Given the description of an element on the screen output the (x, y) to click on. 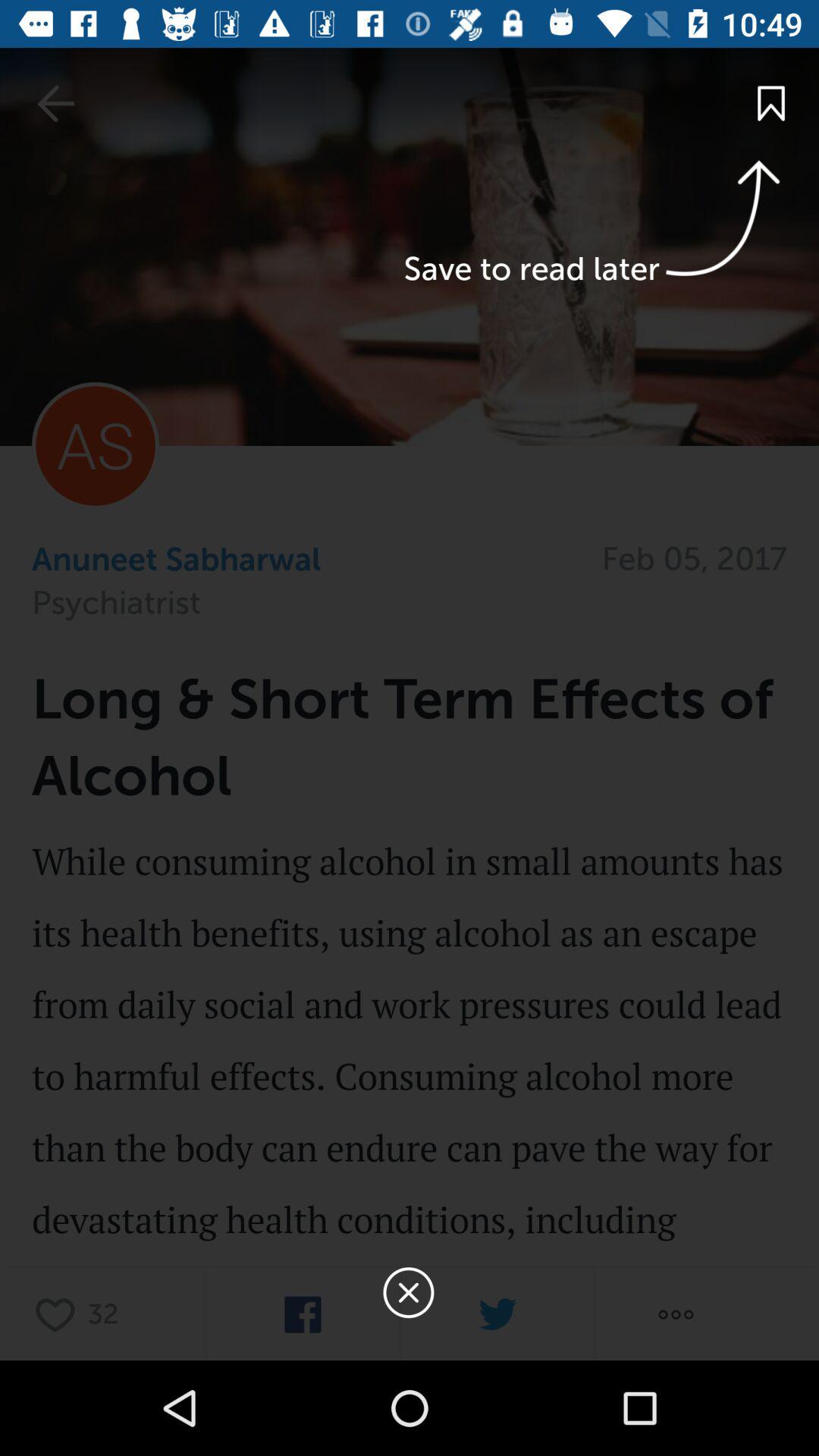
twitter option (497, 1314)
